Given the description of an element on the screen output the (x, y) to click on. 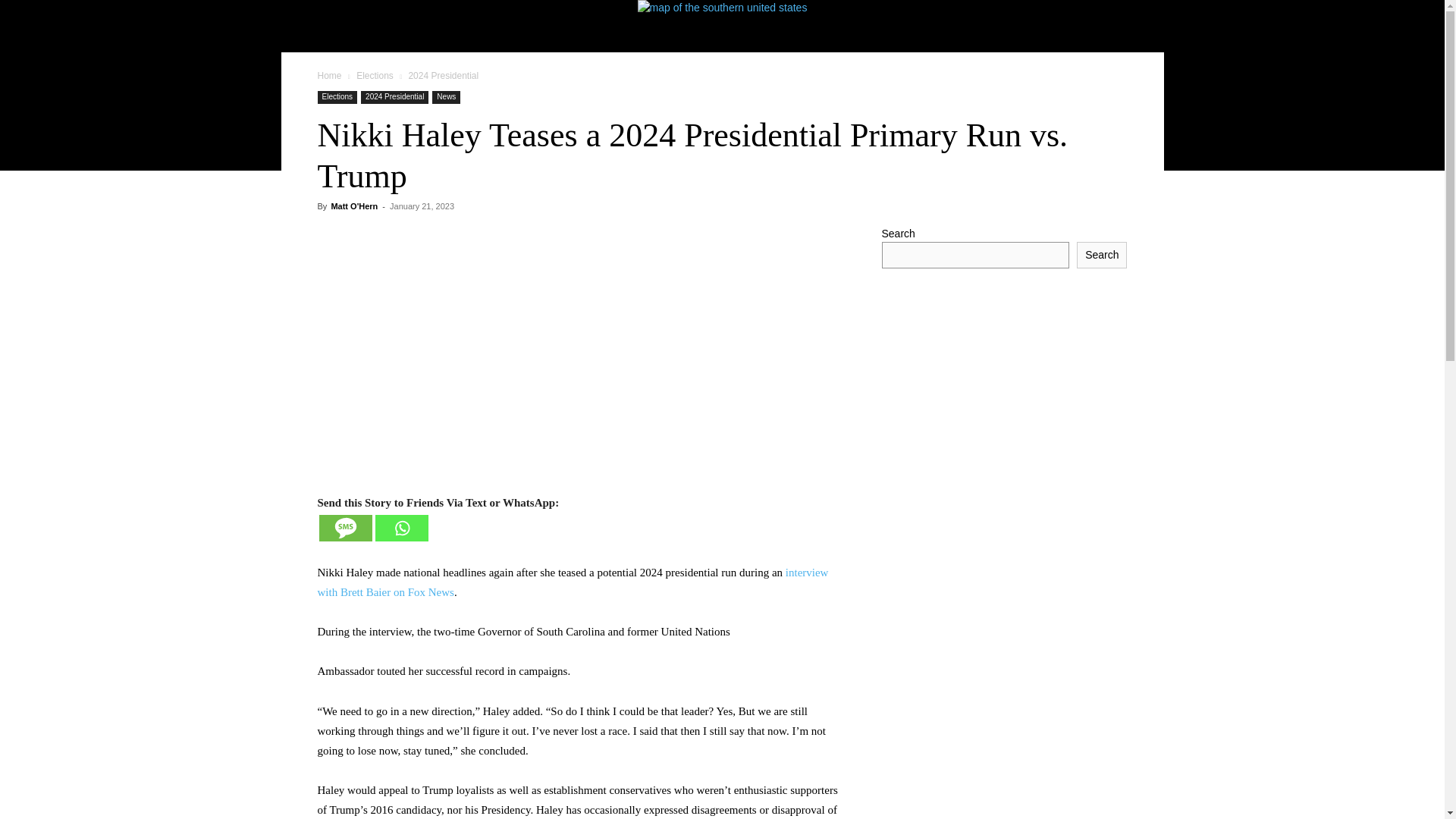
interview with Brett Baier on Fox News (572, 582)
2024 Presidential (394, 97)
Matt O'Hern (353, 205)
View all posts in Elections (374, 75)
Whatsapp (401, 528)
Elections (336, 97)
Search (1101, 254)
News (446, 97)
SMS (344, 528)
Elections (374, 75)
